Given the description of an element on the screen output the (x, y) to click on. 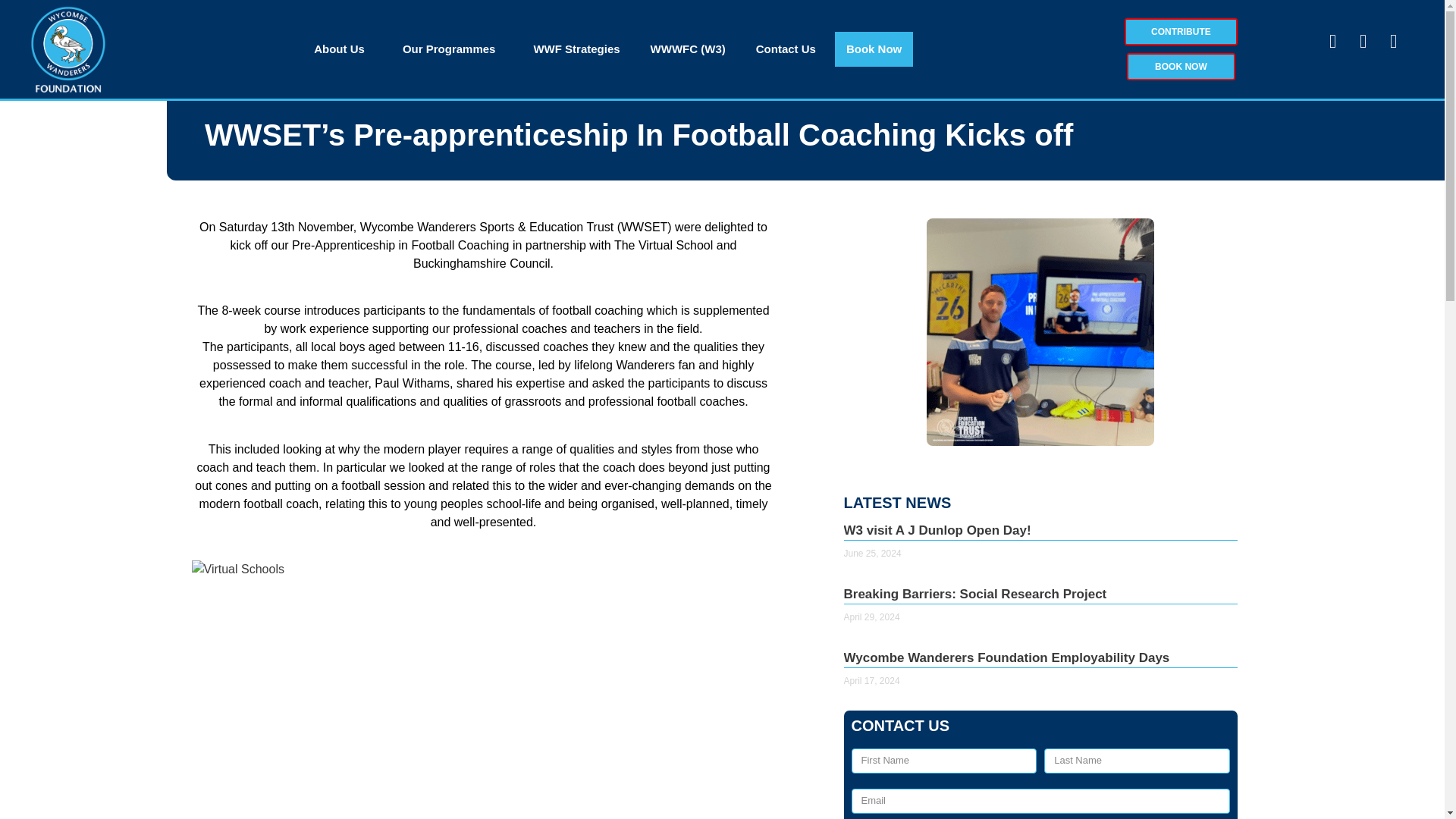
Our Programmes (453, 48)
WWF Strategies (575, 48)
About Us (343, 48)
